Given the description of an element on the screen output the (x, y) to click on. 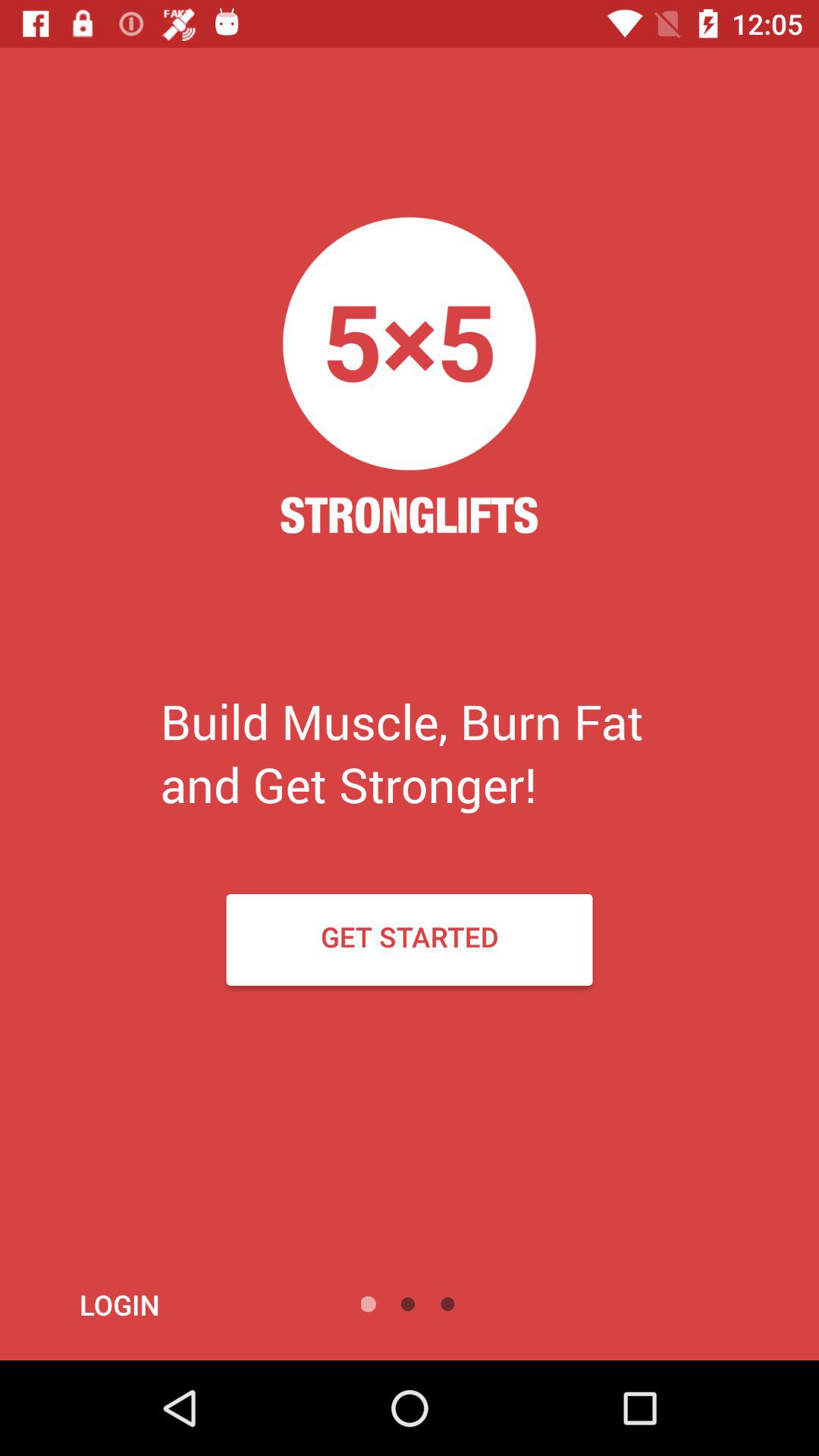
click login at the bottom left corner (160, 1304)
